Given the description of an element on the screen output the (x, y) to click on. 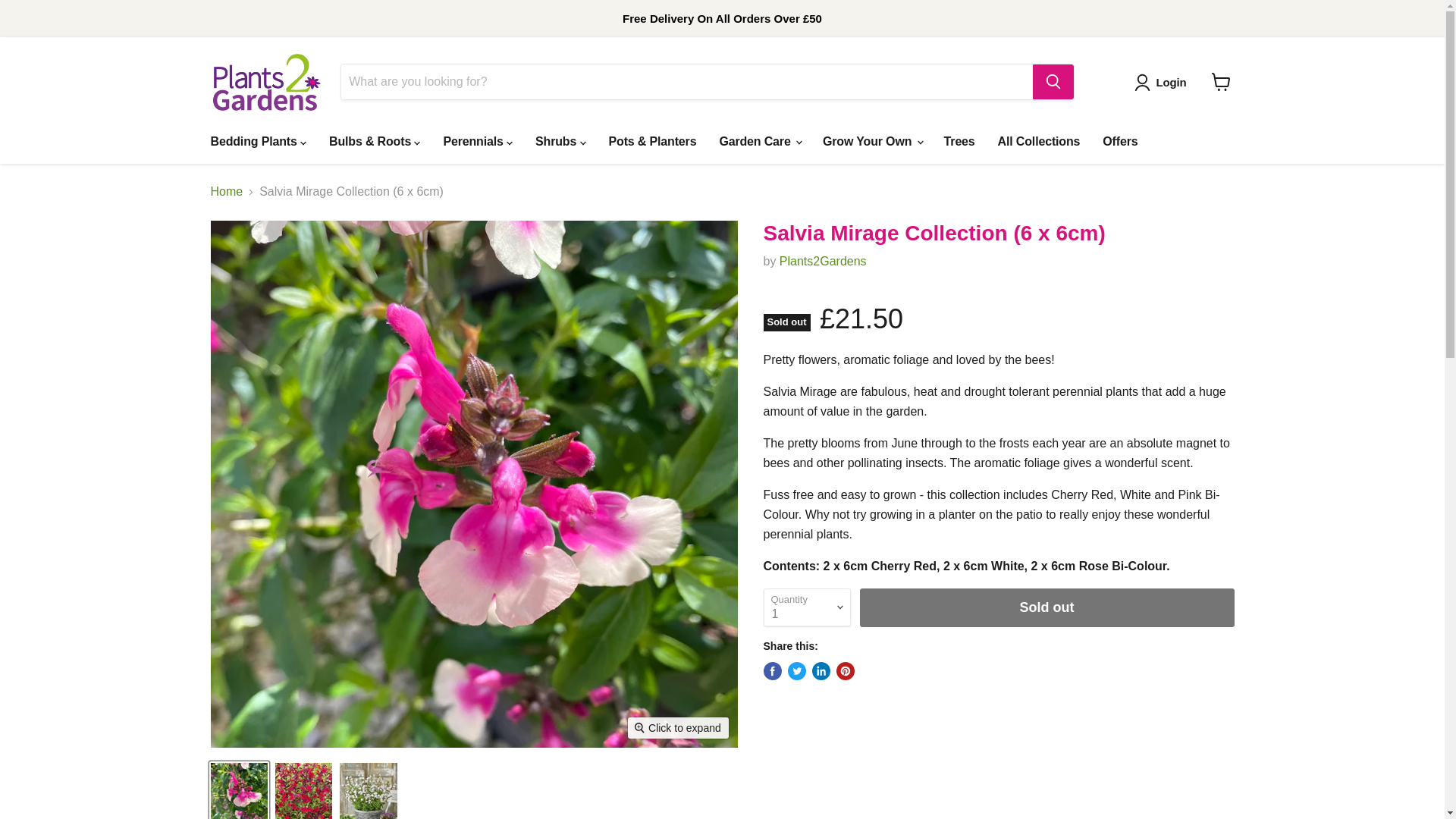
Login (1171, 81)
View cart (1221, 81)
Plants2Gardens (822, 260)
